Given the description of an element on the screen output the (x, y) to click on. 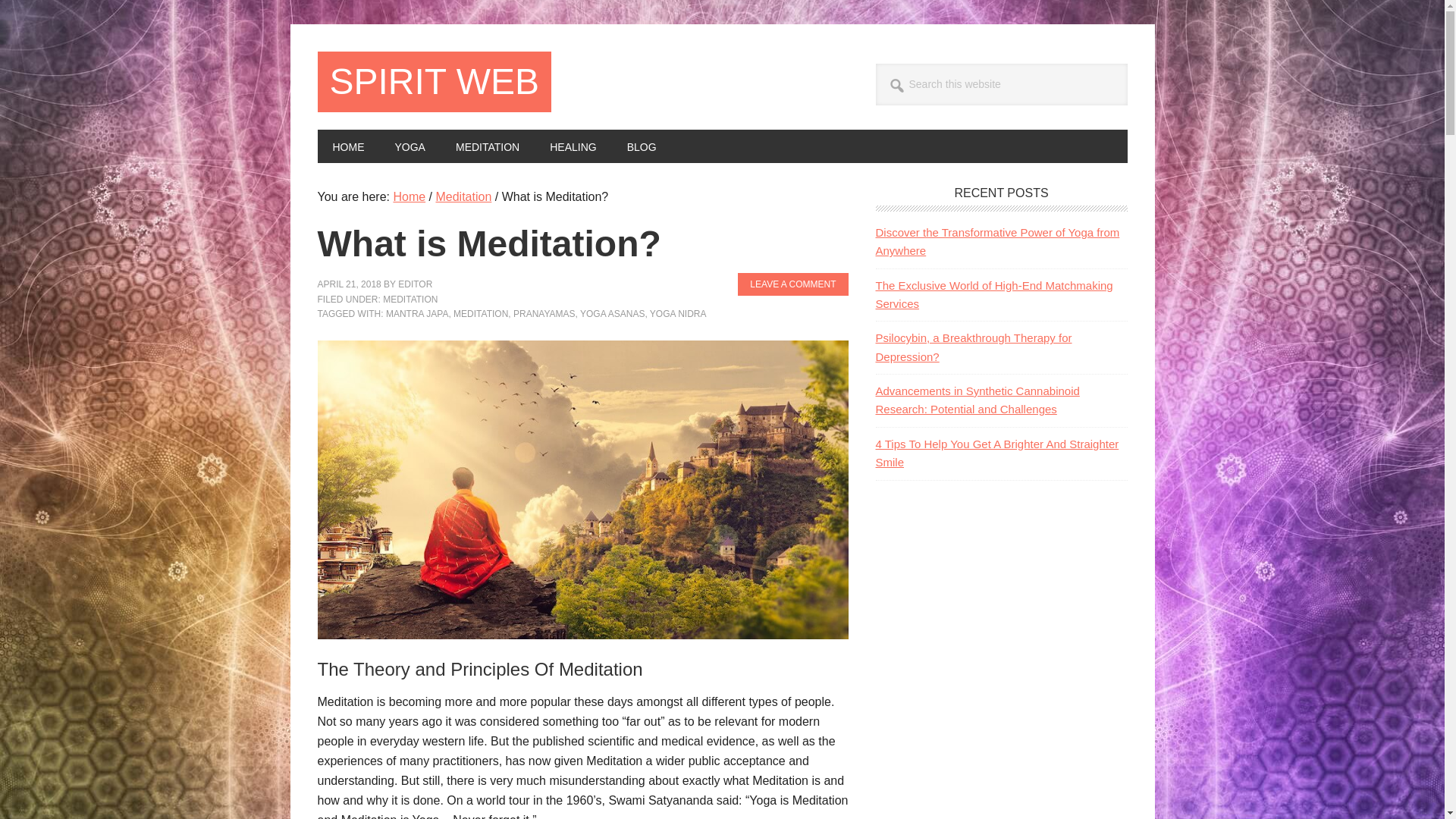
The Exclusive World of High-End Matchmaking Services (993, 294)
PRANAYAMAS (544, 313)
YOGA (408, 145)
Discover the Transformative Power of Yoga from Anywhere (997, 241)
YOGA NIDRA (677, 313)
YOGA ASANAS (612, 313)
Home (409, 196)
BLOG (641, 145)
HOME (347, 145)
Meditation (463, 196)
LEAVE A COMMENT (792, 283)
